Given the description of an element on the screen output the (x, y) to click on. 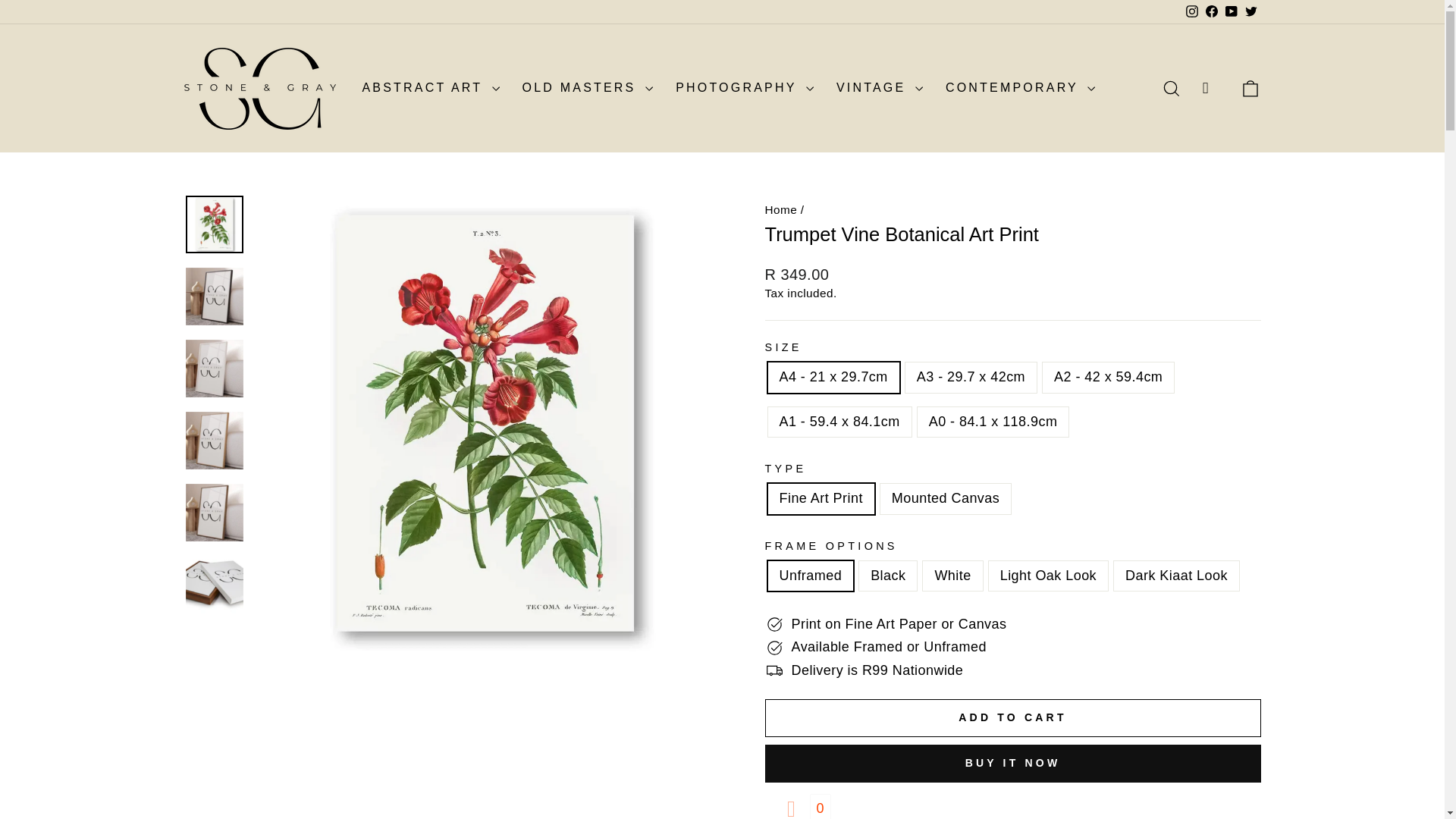
ICON-SEARCH (1170, 88)
Back to the frontpage (780, 209)
twitter (1250, 10)
instagram (1192, 10)
ICON-BAG-MINIMAL (1249, 88)
